Given the description of an element on the screen output the (x, y) to click on. 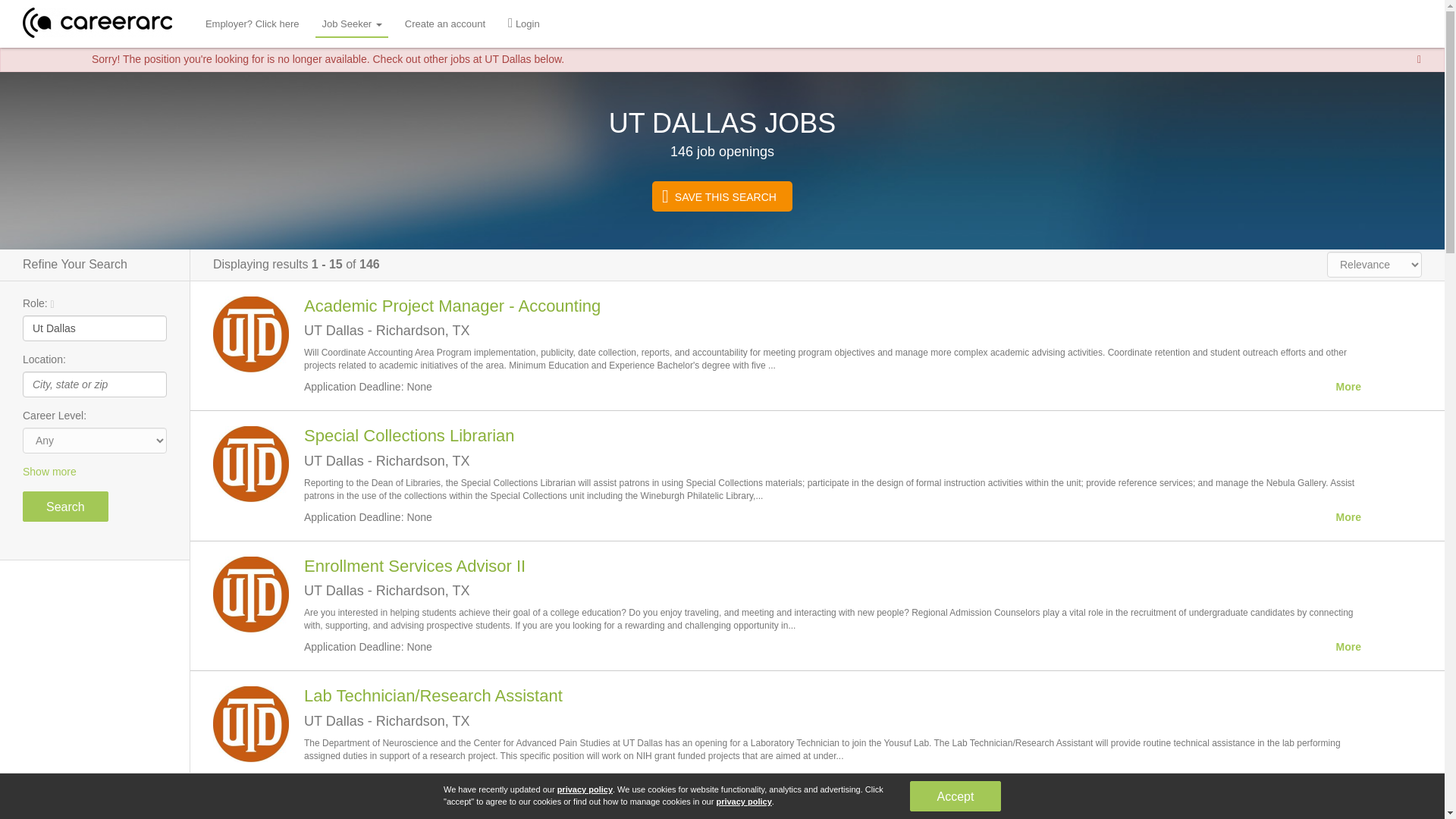
Enrollment Services Advisor II (414, 565)
Show more (95, 472)
Employer? Click here (252, 24)
Create an account (445, 24)
Academic Project Manager - Accounting (451, 305)
SAVE THIS SEARCH (722, 195)
Special Collections Librarian (409, 435)
More (1348, 517)
Search (65, 506)
More (1348, 647)
Search (65, 506)
More (1348, 387)
Ut Dallas (95, 328)
Job Seeker (351, 24)
Login (524, 24)
